Given the description of an element on the screen output the (x, y) to click on. 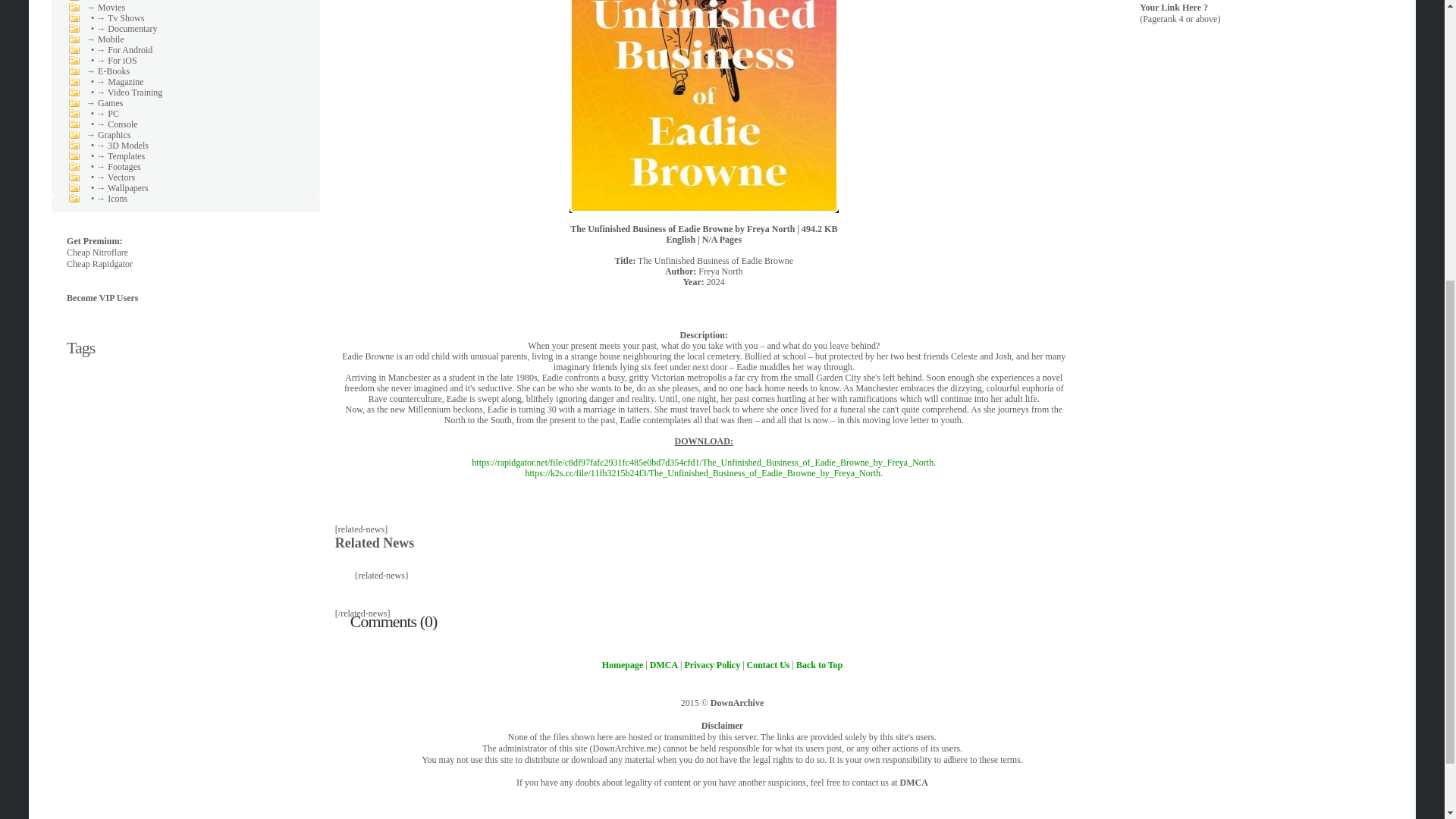
Graphics (114, 134)
Mobile (110, 39)
Movies (111, 7)
The Unfinished Business of Eadie Browne by Freya North  (703, 106)
Music (108, 1)
Games (109, 102)
E-Books (113, 71)
